Given the description of an element on the screen output the (x, y) to click on. 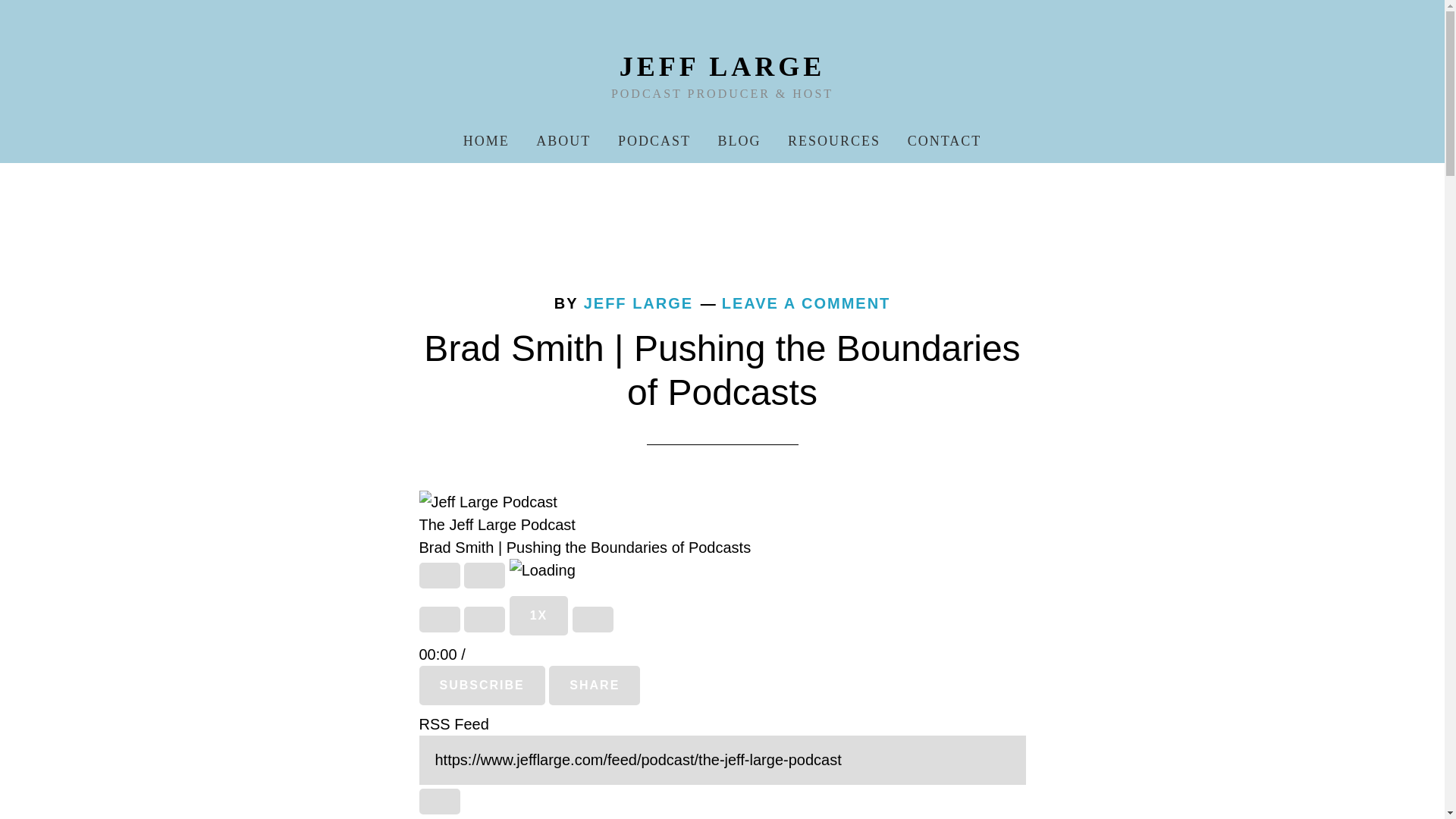
Playback Speed (539, 615)
JEFF LARGE (638, 303)
Rewind 10 seconds (484, 619)
JEFF LARGE (722, 66)
Pause (484, 575)
PODCAST (654, 140)
Subscribe (481, 685)
FAST FORWARD 30 SECONDS (592, 619)
PAUSE EPISODE (484, 575)
Play (439, 575)
